Given the description of an element on the screen output the (x, y) to click on. 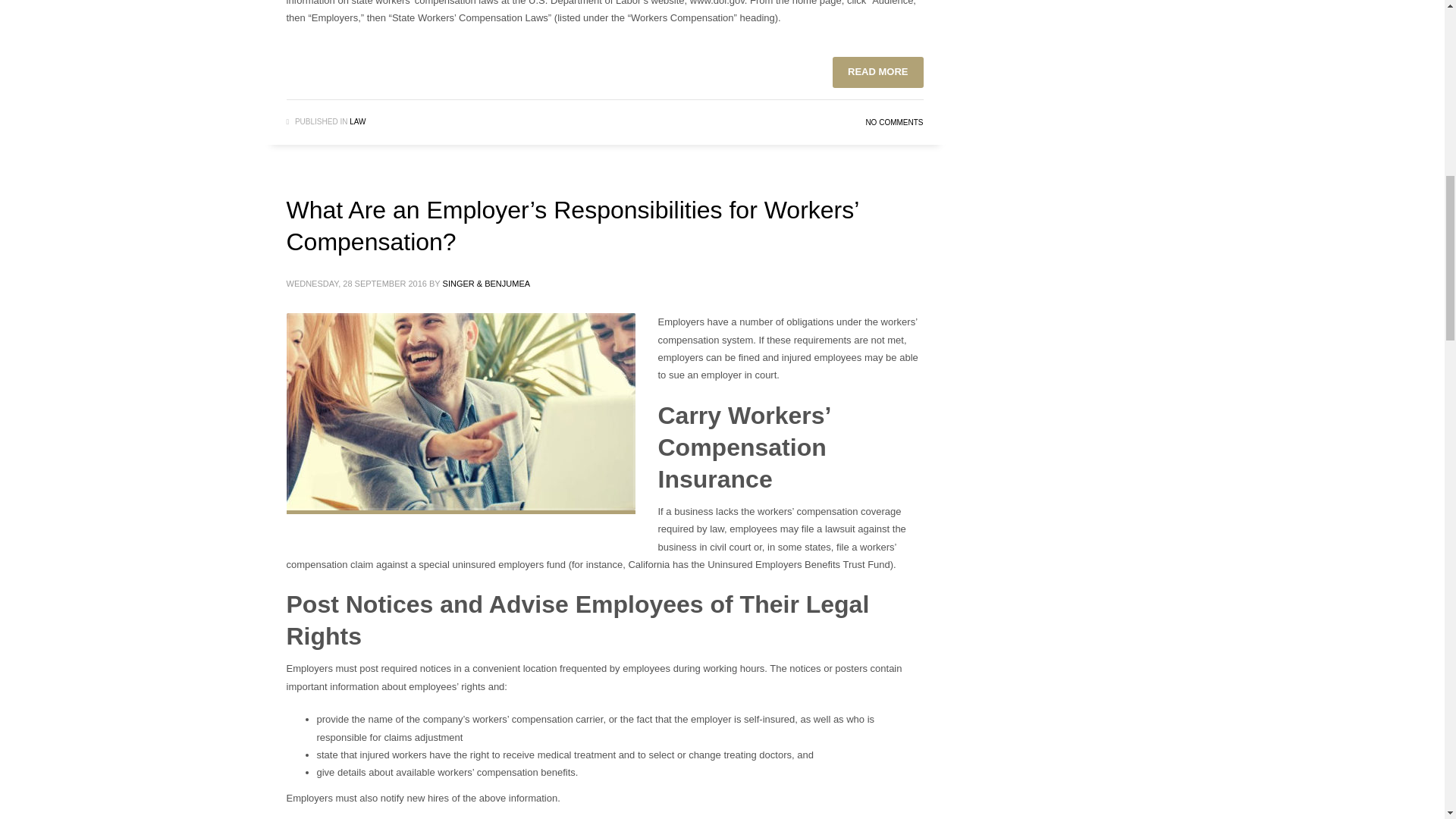
READ MORE (877, 71)
NO COMMENTS (893, 121)
a (460, 411)
LAW (357, 121)
